Given the description of an element on the screen output the (x, y) to click on. 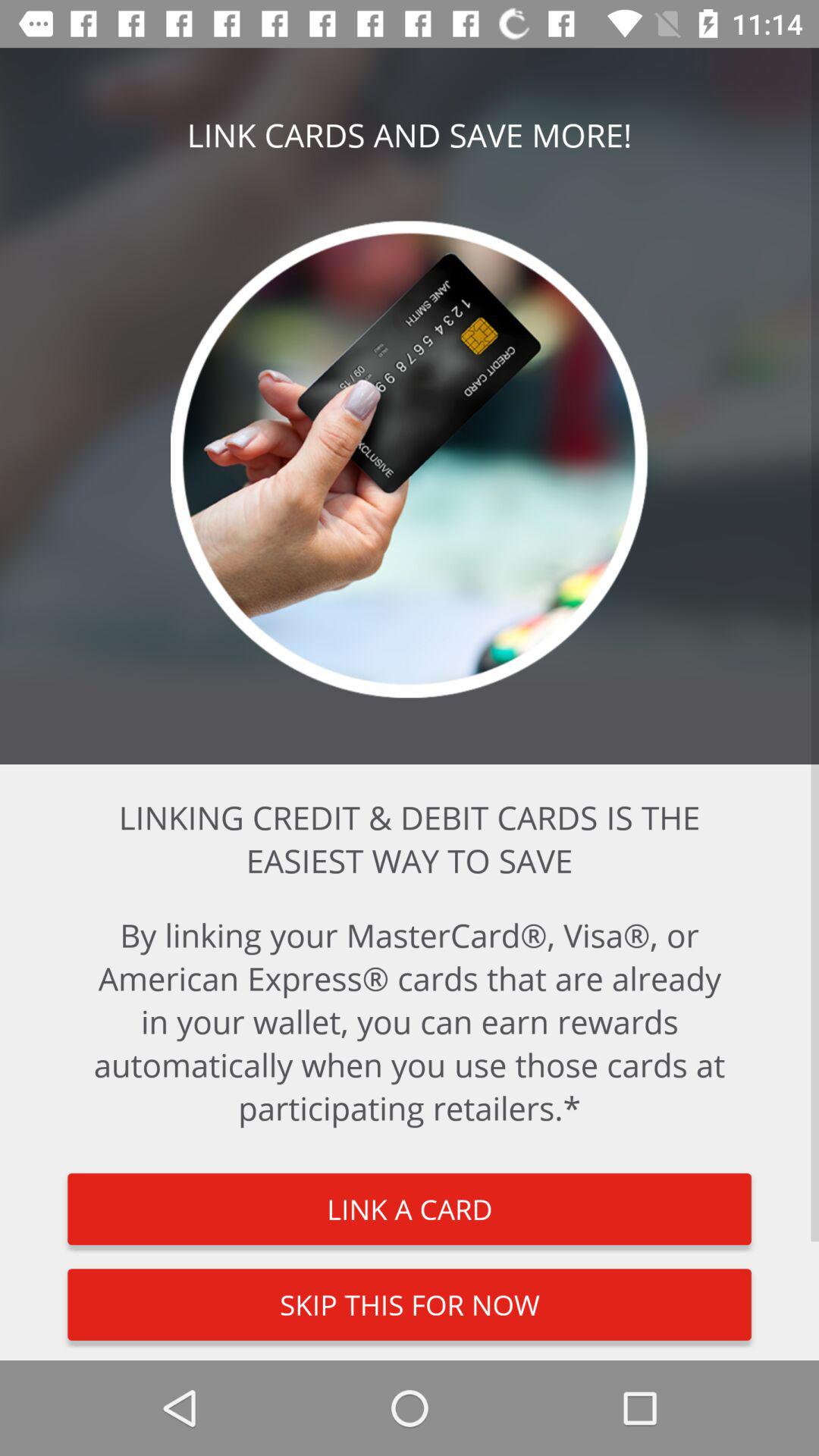
launch item below the link a card (409, 1304)
